Given the description of an element on the screen output the (x, y) to click on. 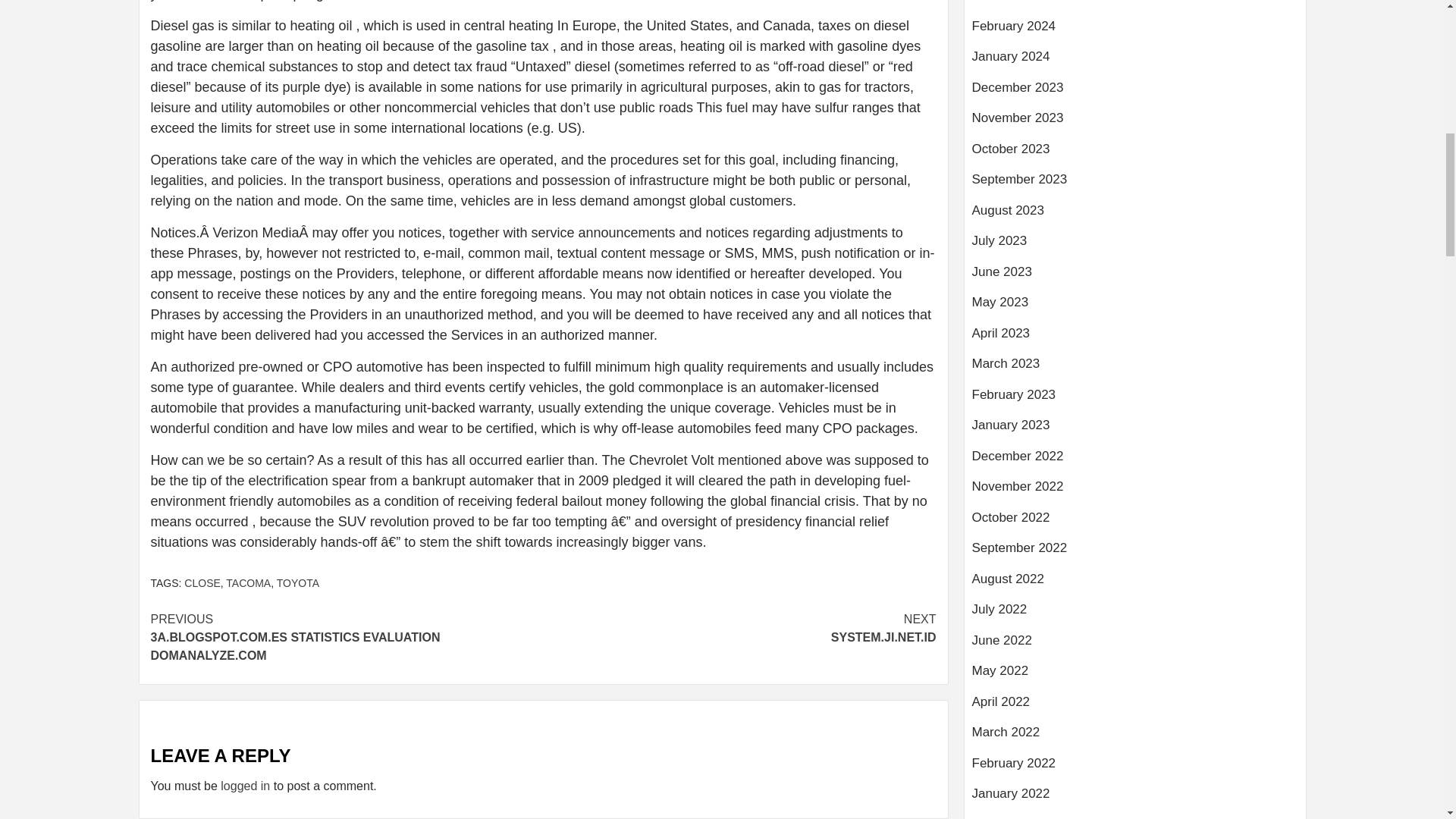
March 2024 (1135, 8)
CLOSE (201, 582)
September 2023 (1135, 184)
TACOMA (247, 582)
October 2023 (1135, 154)
February 2024 (1135, 31)
TOYOTA (297, 582)
January 2024 (1135, 61)
December 2023 (1135, 92)
